Given the description of an element on the screen output the (x, y) to click on. 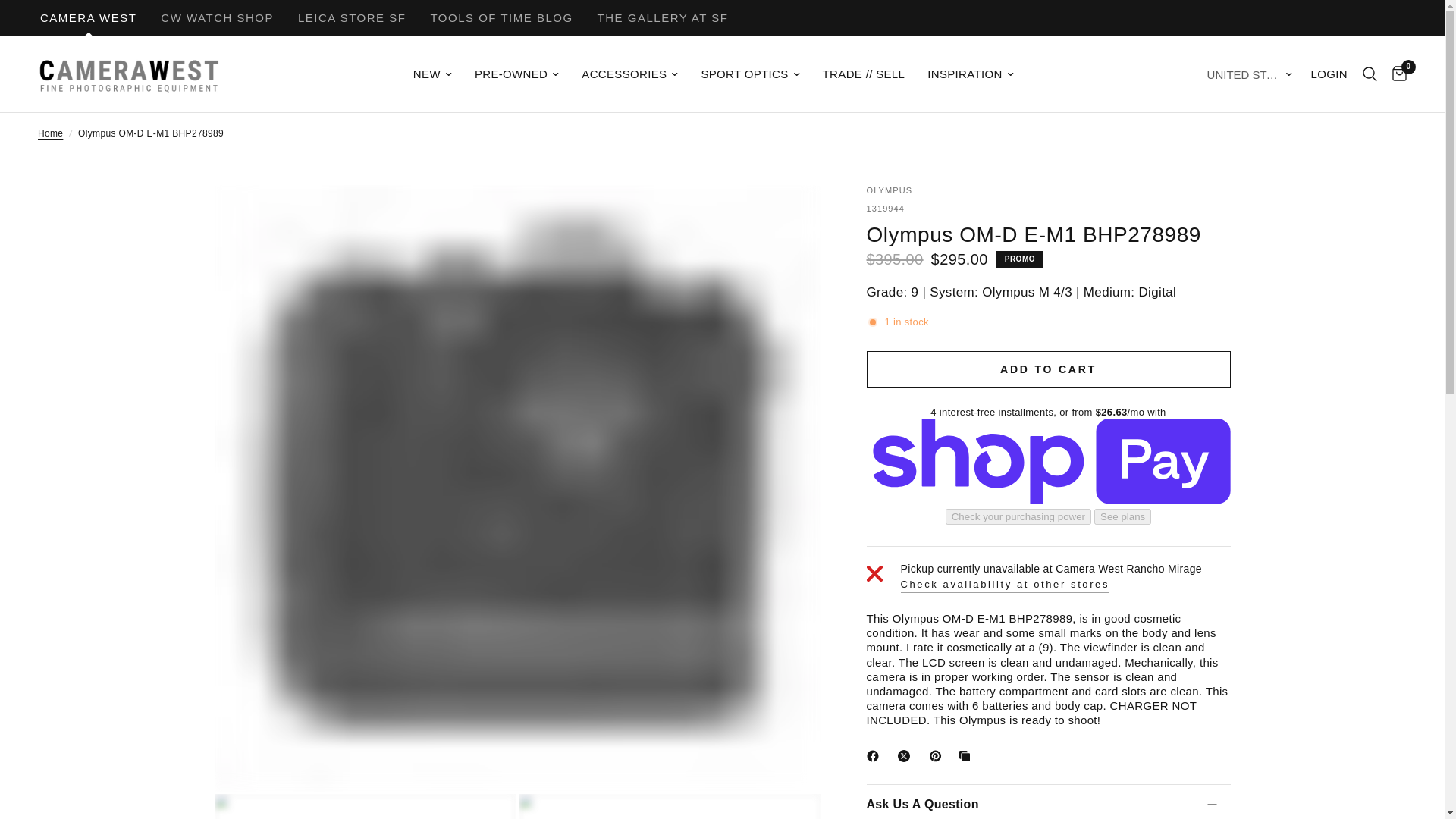
CW WATCH SHOP (216, 18)
CAMERA WEST (87, 18)
LEICA STORE SF (352, 18)
THE GALLERY AT SF (663, 18)
TOOLS OF TIME BLOG (500, 18)
